Given the description of an element on the screen output the (x, y) to click on. 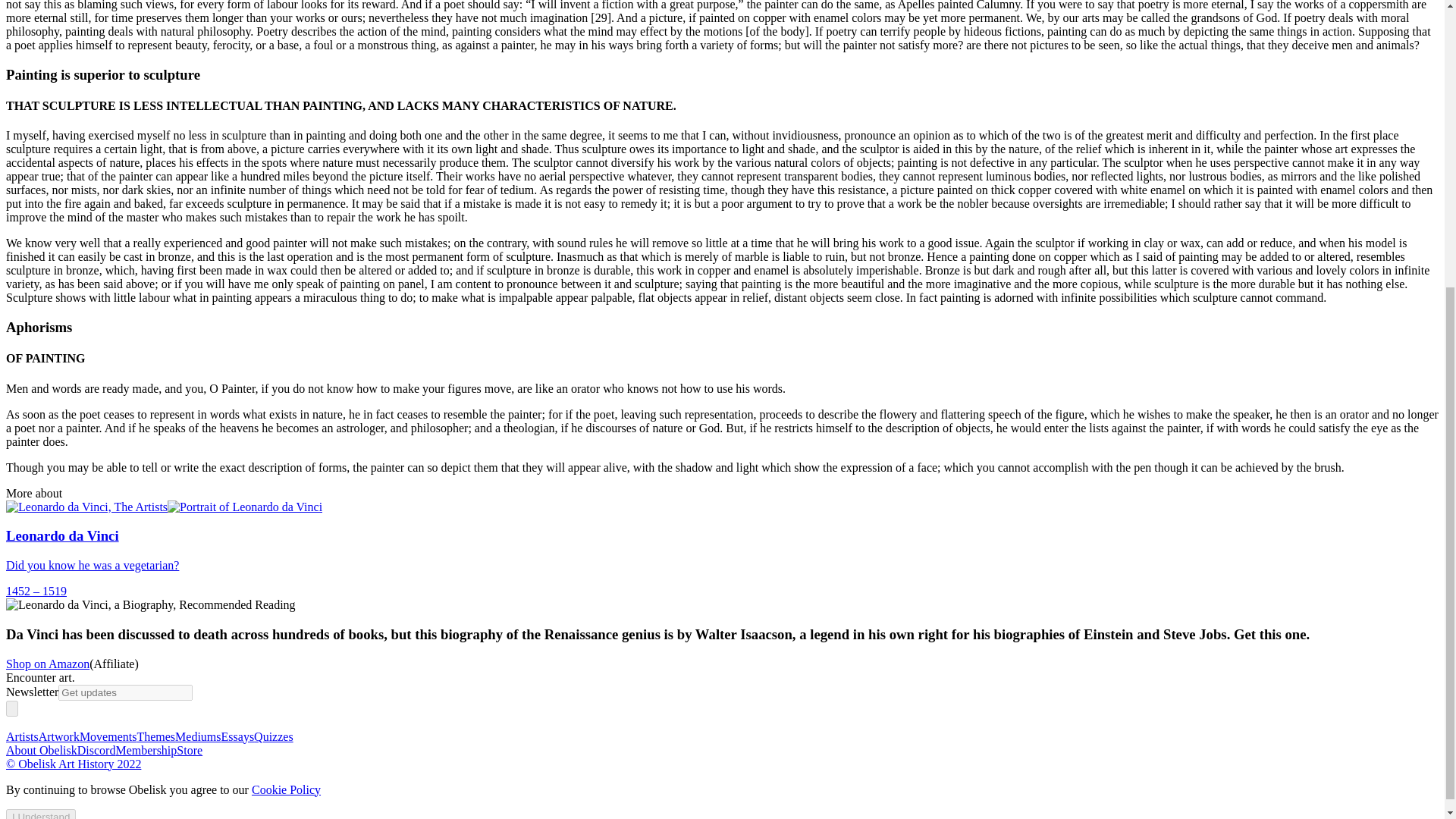
Artwork (59, 736)
Discord (96, 749)
Quizzes (273, 736)
Themes (155, 736)
Store (189, 749)
Movements (108, 736)
Shop on Amazon (46, 663)
Cookie Policy (285, 789)
Artists (22, 736)
Mediums (197, 736)
